Given the description of an element on the screen output the (x, y) to click on. 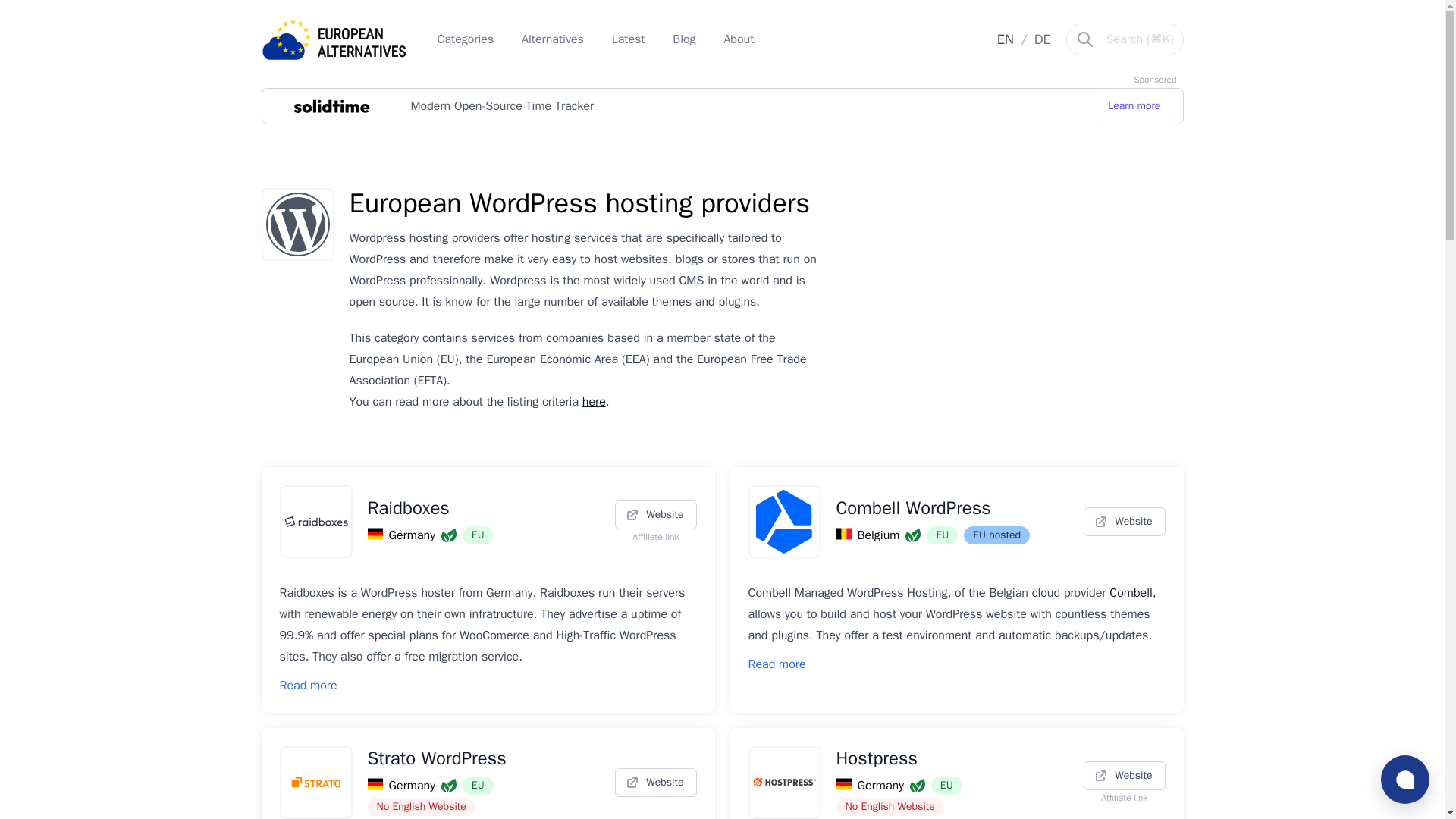
Alternatives (554, 38)
Raidboxes (482, 508)
Combell (1131, 592)
here (593, 401)
Website (654, 514)
Strato WordPress (482, 758)
Hostpress (951, 758)
European Union (946, 785)
Homepage (333, 39)
Blog (685, 38)
Latest (630, 38)
European Union (478, 785)
About (738, 38)
Read more (307, 685)
DE (1042, 39)
